Given the description of an element on the screen output the (x, y) to click on. 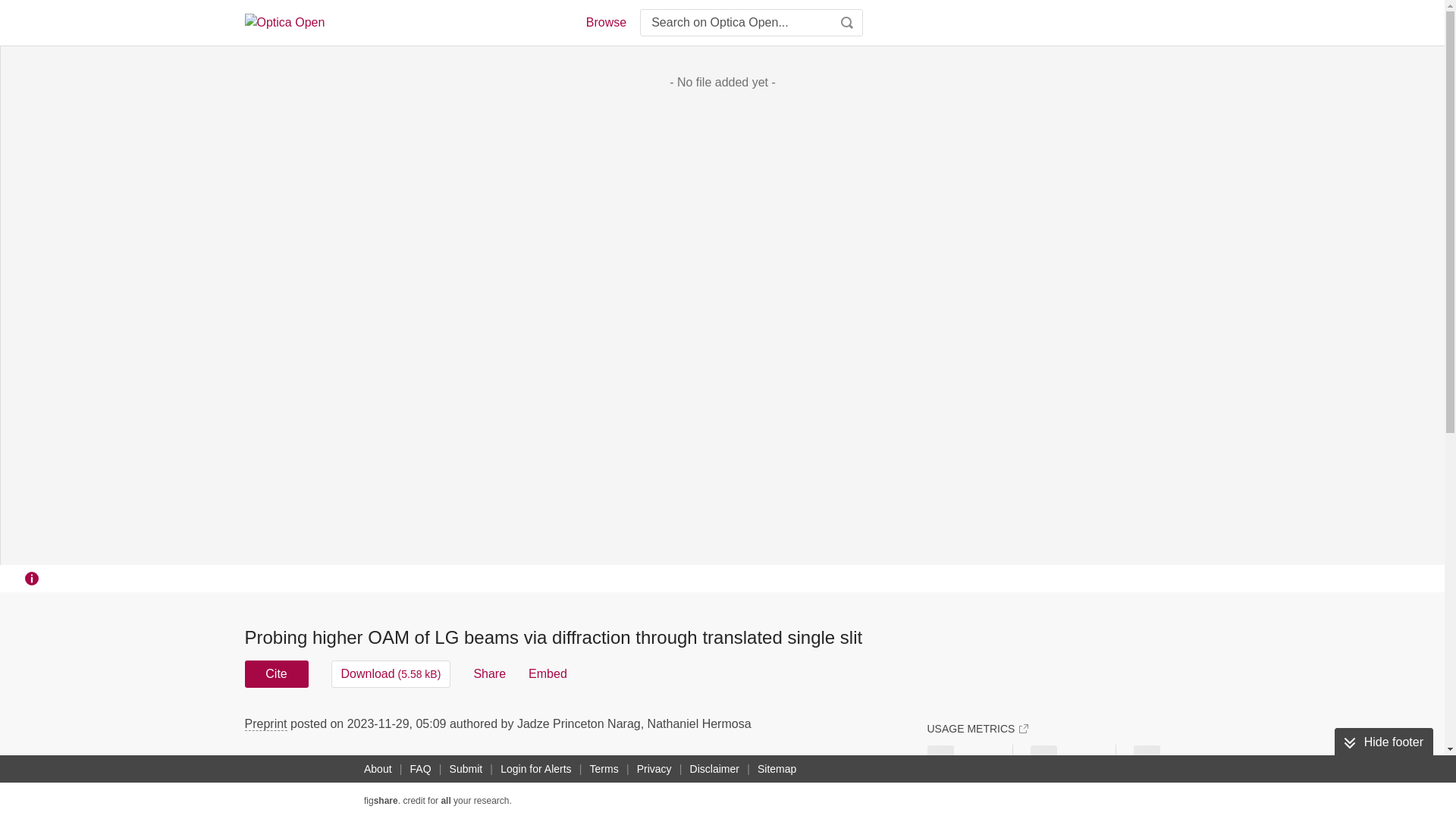
Cite (275, 673)
Submit (466, 769)
Share (489, 673)
Terms (604, 769)
Browse (605, 22)
Privacy (654, 769)
Sitemap (776, 769)
USAGE METRICS (976, 728)
Login for Alerts (535, 769)
Hide footer (1383, 742)
Disclaimer (714, 769)
About (377, 769)
FAQ (420, 769)
Embed (547, 673)
